Given the description of an element on the screen output the (x, y) to click on. 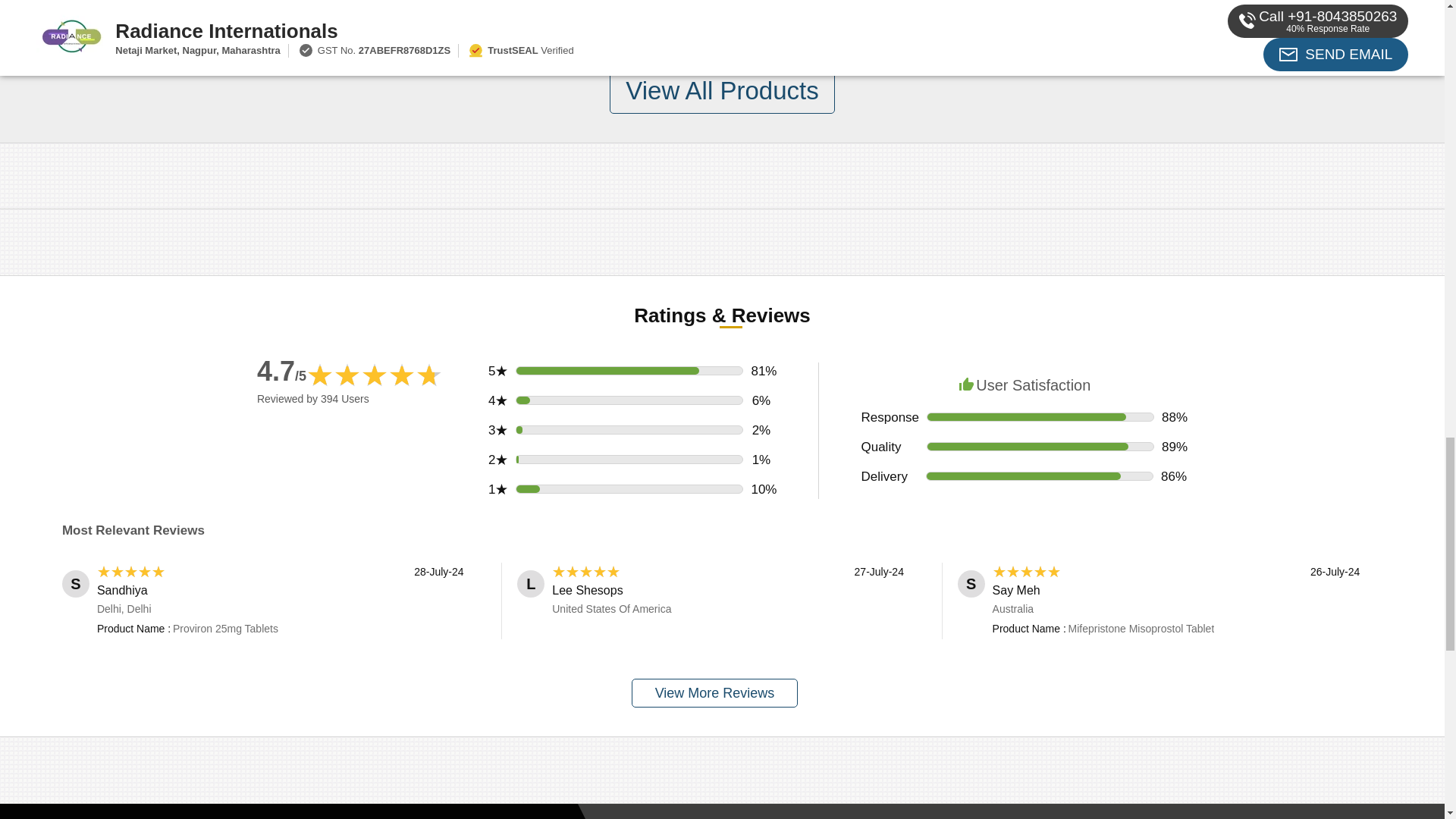
4.7 out of 5 Votes (281, 370)
